Given the description of an element on the screen output the (x, y) to click on. 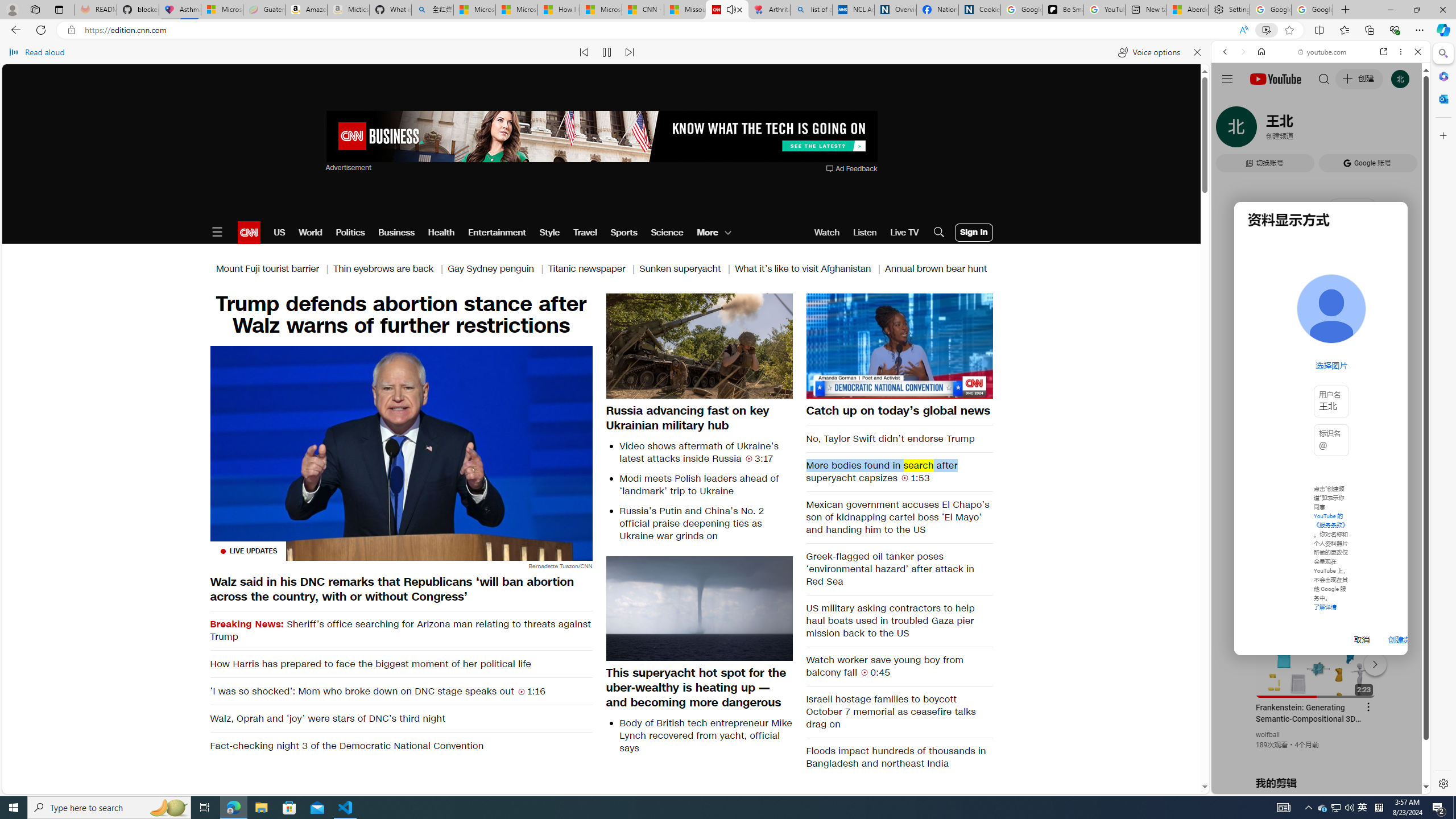
Sunken superyacht | (687, 268)
Fullscreen (976, 389)
Forward 10 seconds (933, 345)
Business (396, 232)
